Given the description of an element on the screen output the (x, y) to click on. 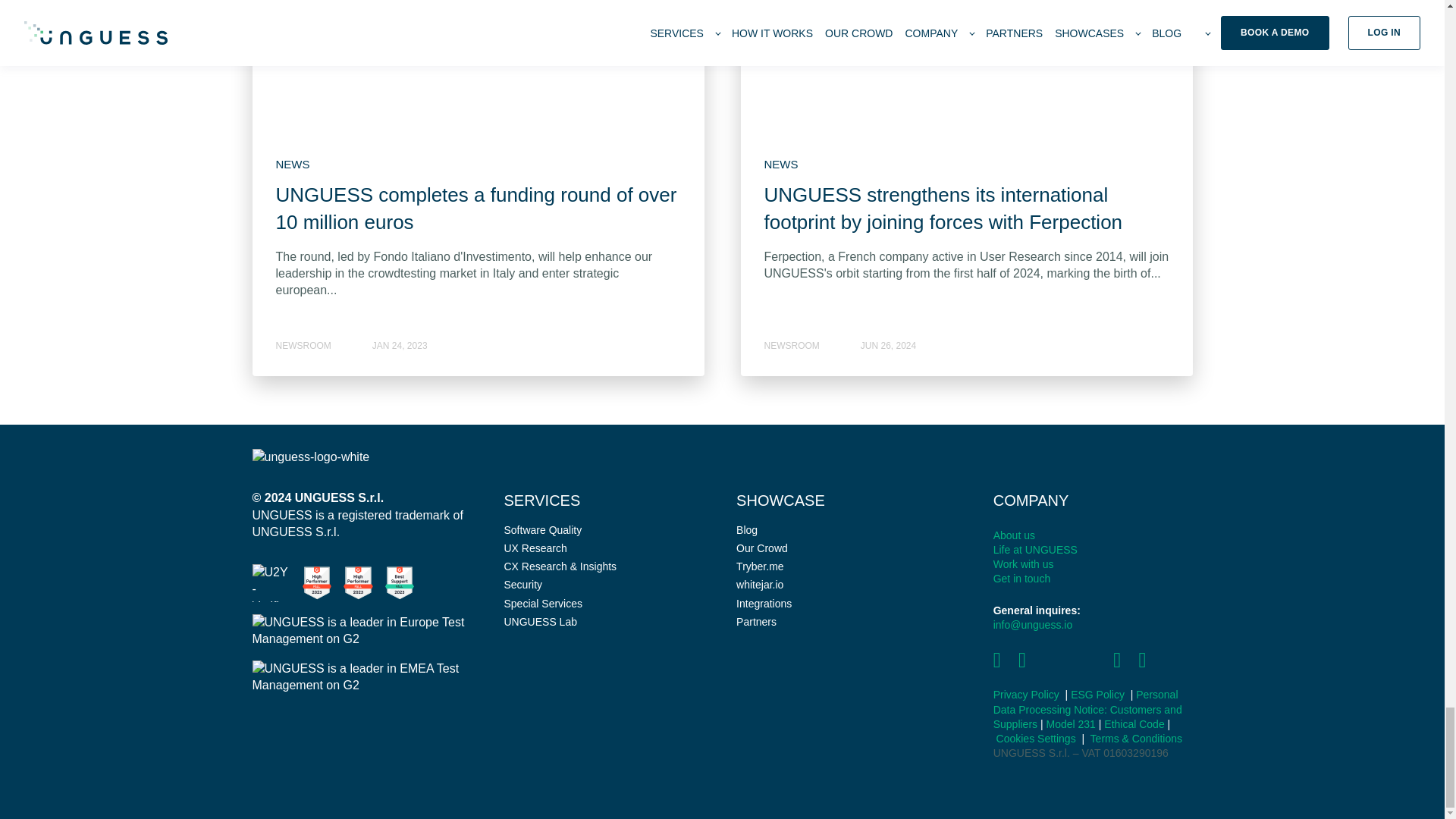
UNGUESS verified Carbon Footprint (270, 582)
UNGUESS is a leader in EMEA Test Management on G2 (365, 677)
UNGUESS is a leader in Europe Test Management on G2 (365, 631)
